Given the description of an element on the screen output the (x, y) to click on. 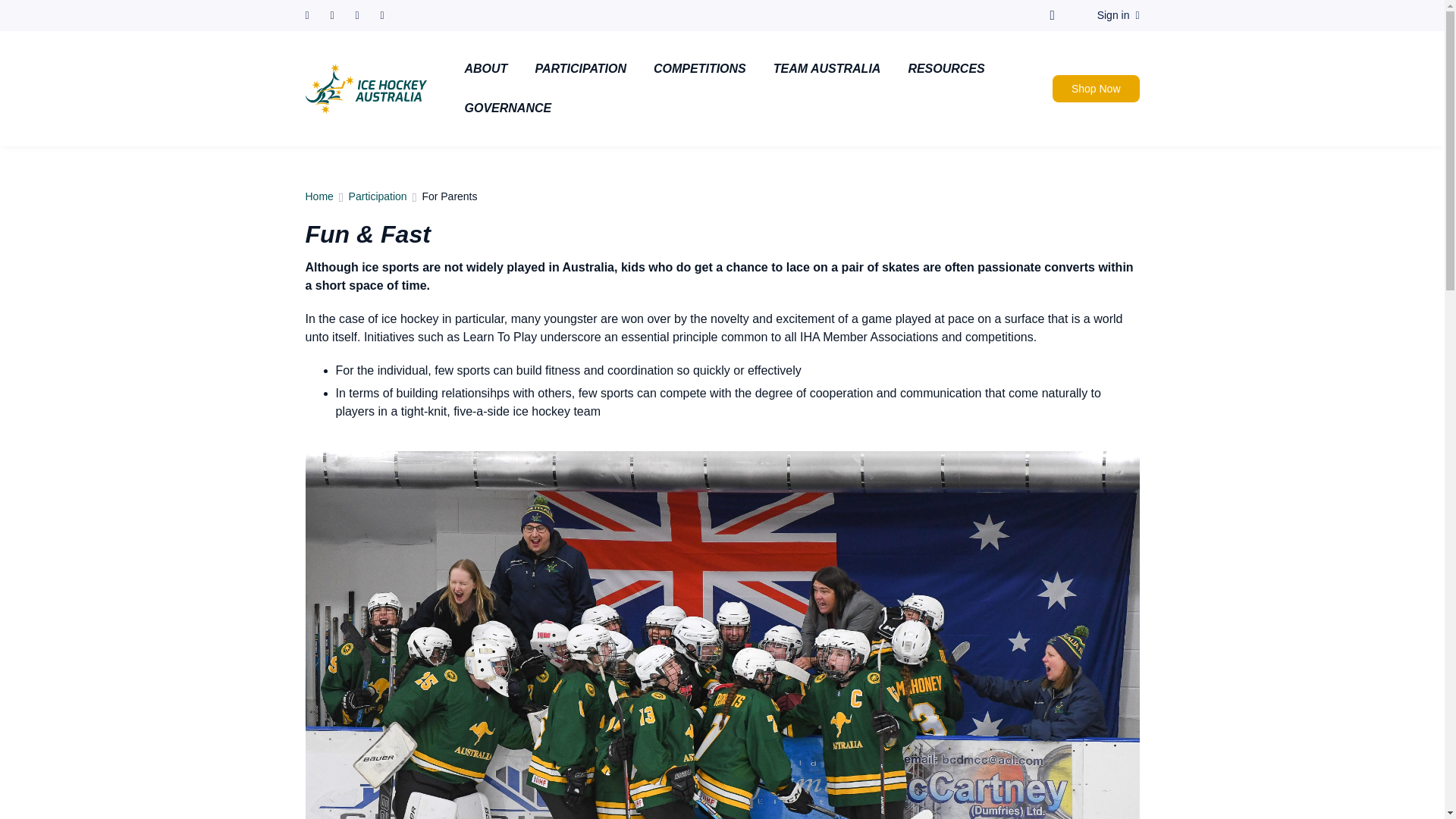
Sign in (1118, 15)
TEAM AUSTRALIA (827, 68)
PARTICIPATION (580, 68)
COMPETITIONS (700, 68)
ABOUT (485, 68)
